Given the description of an element on the screen output the (x, y) to click on. 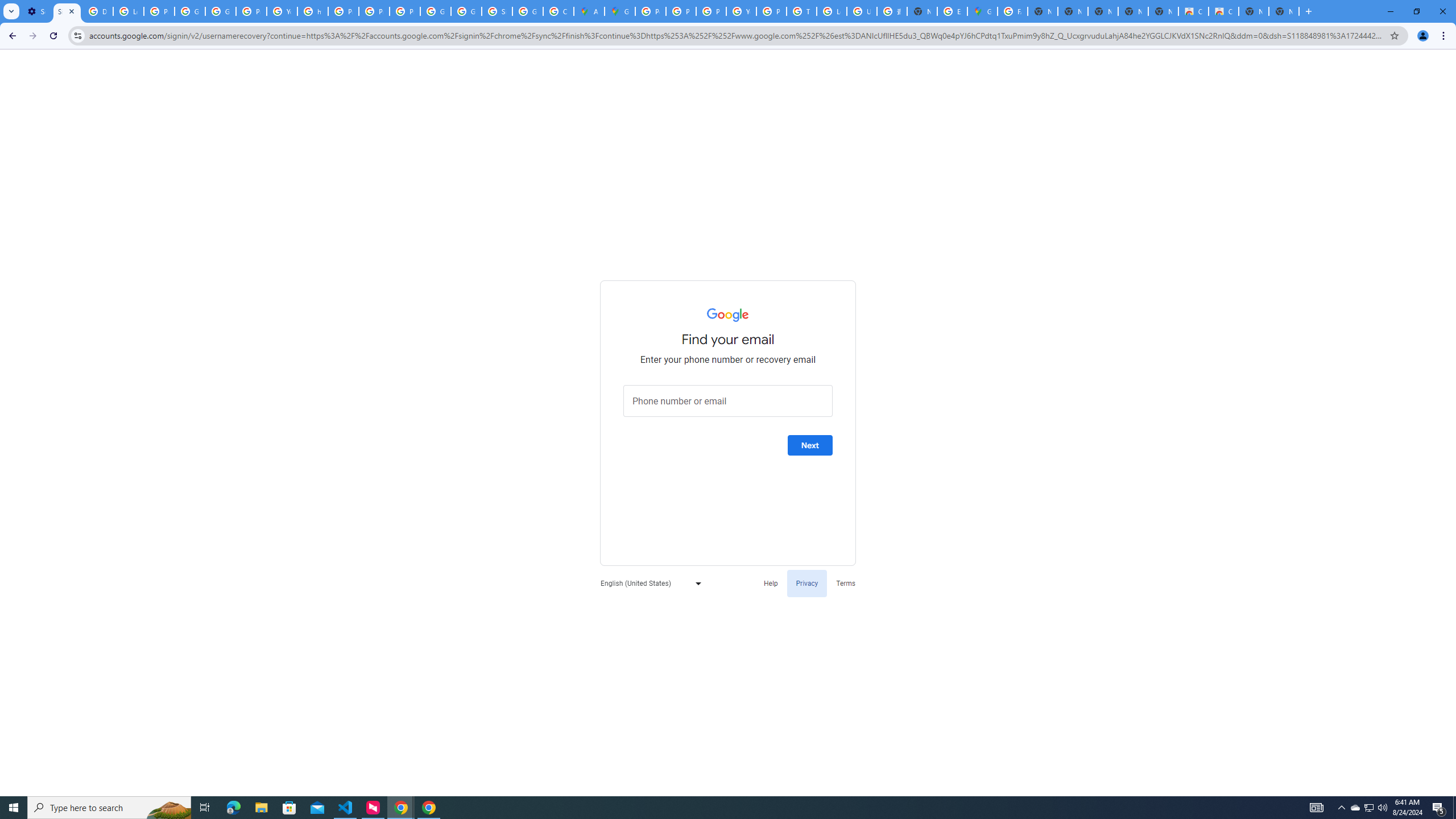
Sign in - Google Accounts (496, 11)
Policy Accountability and Transparency - Transparency Center (650, 11)
Learn how to find your photos - Google Photos Help (127, 11)
YouTube (282, 11)
Terms (845, 583)
Chrome (1445, 35)
Back (10, 35)
Address and search bar (735, 35)
Search tabs (10, 11)
Privacy Help Center - Policies Help (343, 11)
